Given the description of an element on the screen output the (x, y) to click on. 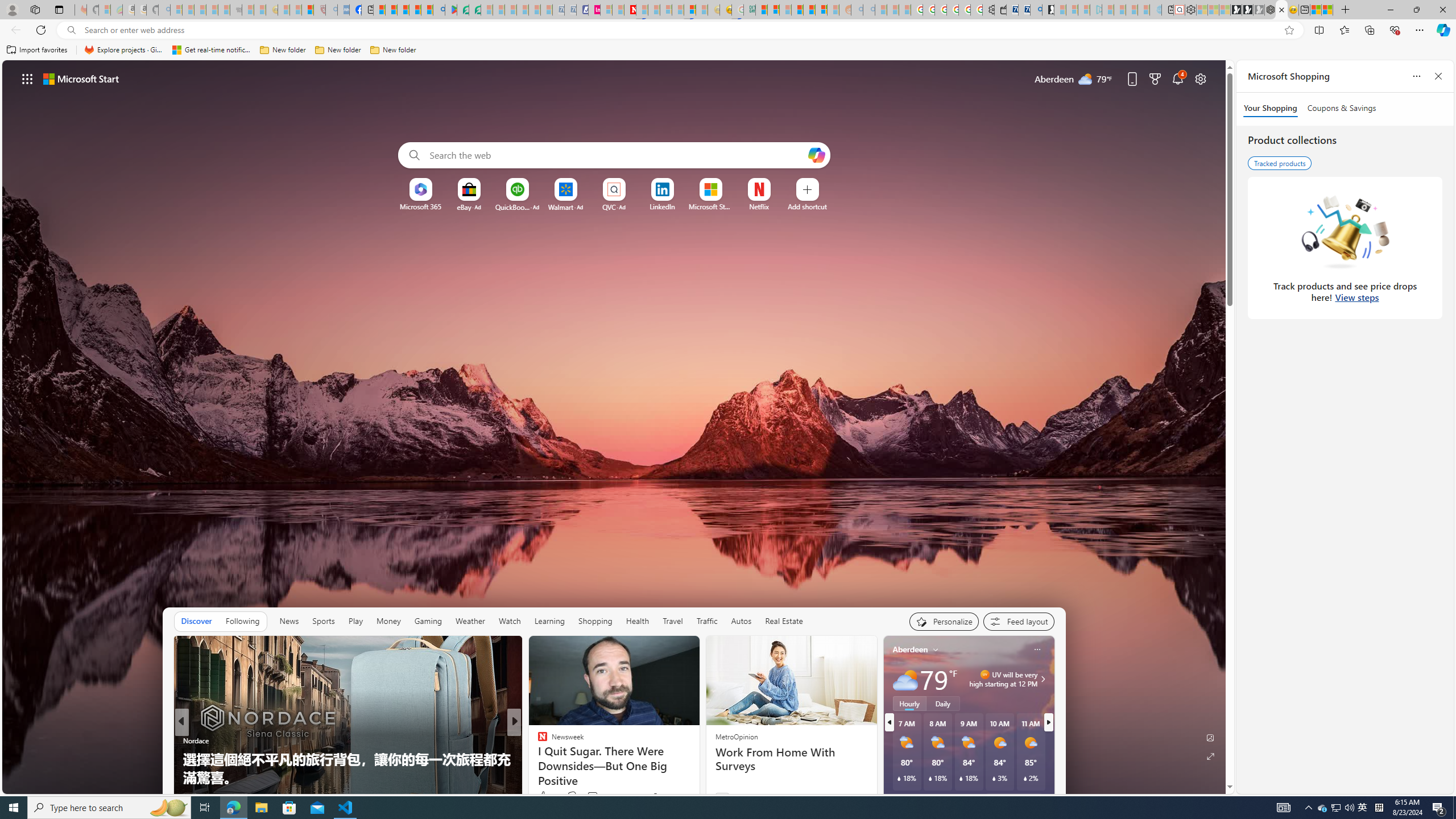
App launcher (27, 78)
Wildlife - MSN (1315, 9)
Real Estate (783, 621)
Microsoft Word - consumer-privacy address update 2.2021 (475, 9)
Autos (740, 621)
Traffic (706, 621)
Latest Politics News & Archive | Newsweek.com (629, 9)
Ancient Creatures That Are Still Alive (697, 777)
View comments 116 Comment (599, 795)
